Given the description of an element on the screen output the (x, y) to click on. 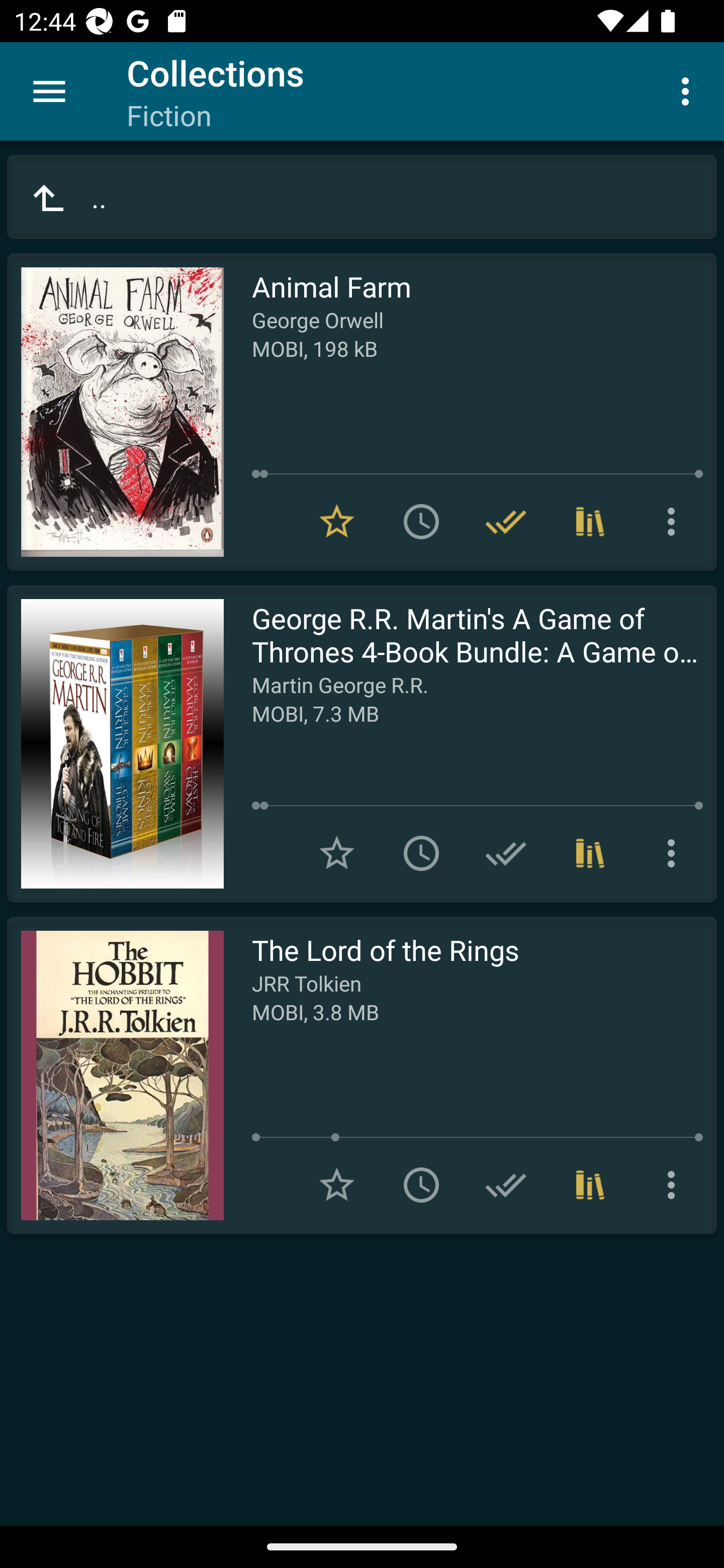
Menu (49, 91)
More options (688, 90)
.. (361, 197)
Read Animal Farm (115, 412)
Remove from Favorites (336, 521)
Add to To read (421, 521)
Remove from Have read (505, 521)
Collections (1) (590, 521)
More options (674, 521)
Add to Favorites (336, 852)
Add to To read (421, 852)
Add to Have read (505, 852)
Collections (1) (590, 852)
More options (674, 852)
Read The Lord of the Rings (115, 1075)
Add to Favorites (336, 1185)
Add to To read (421, 1185)
Add to Have read (505, 1185)
Collections (1) (590, 1185)
More options (674, 1185)
